Given the description of an element on the screen output the (x, y) to click on. 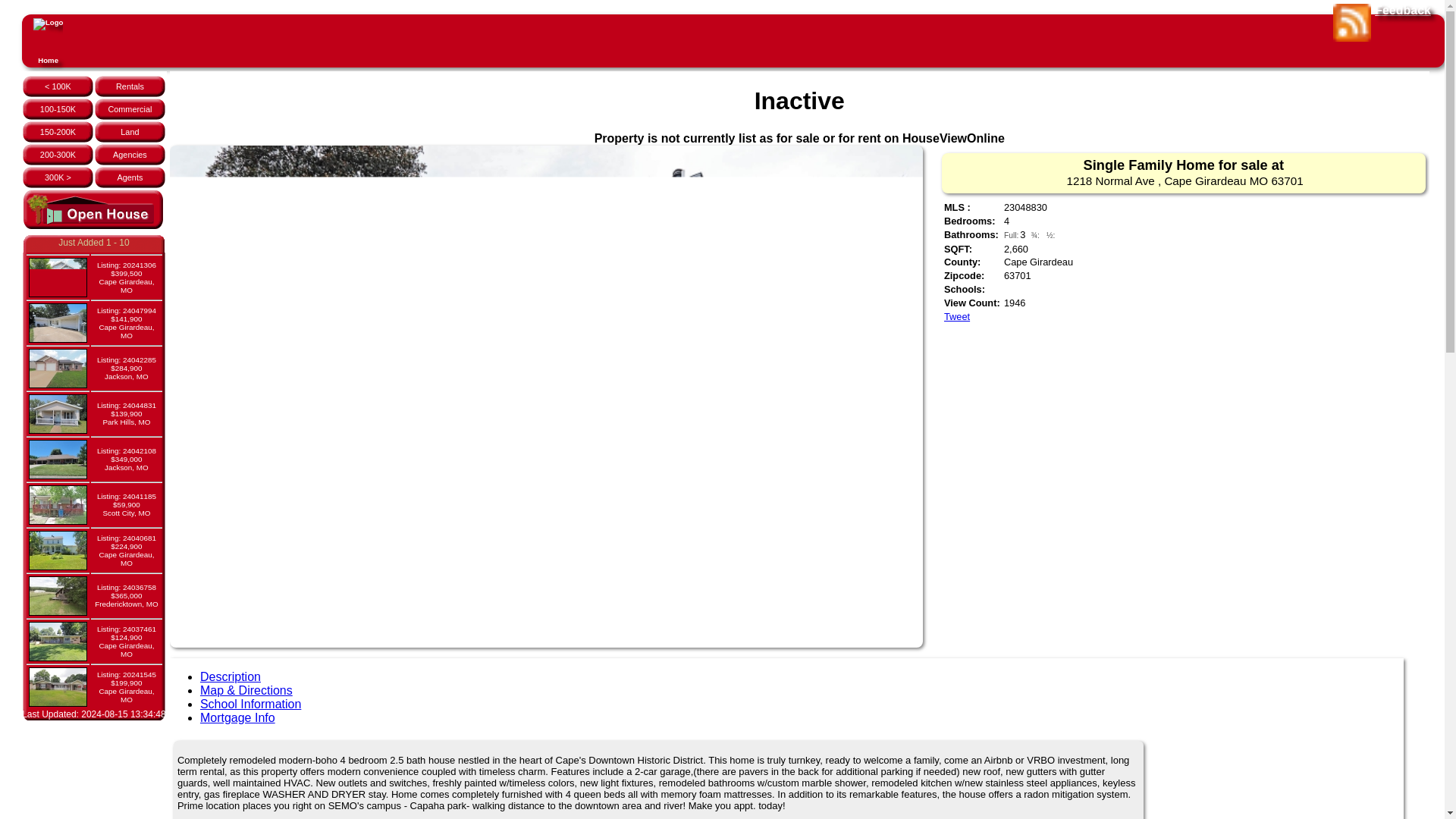
200-300K (57, 153)
Click To View Listing in Cape Girardeau MO (126, 277)
Subscribe to RSS feed (1352, 22)
School Information (250, 703)
Real Estate Agencies (130, 153)
Click to View Current Open house Listings! (93, 226)
Land (129, 131)
Click To View Listing in Cape Girardeau MO (126, 322)
Tweet (956, 316)
Rentals (130, 85)
